Given the description of an element on the screen output the (x, y) to click on. 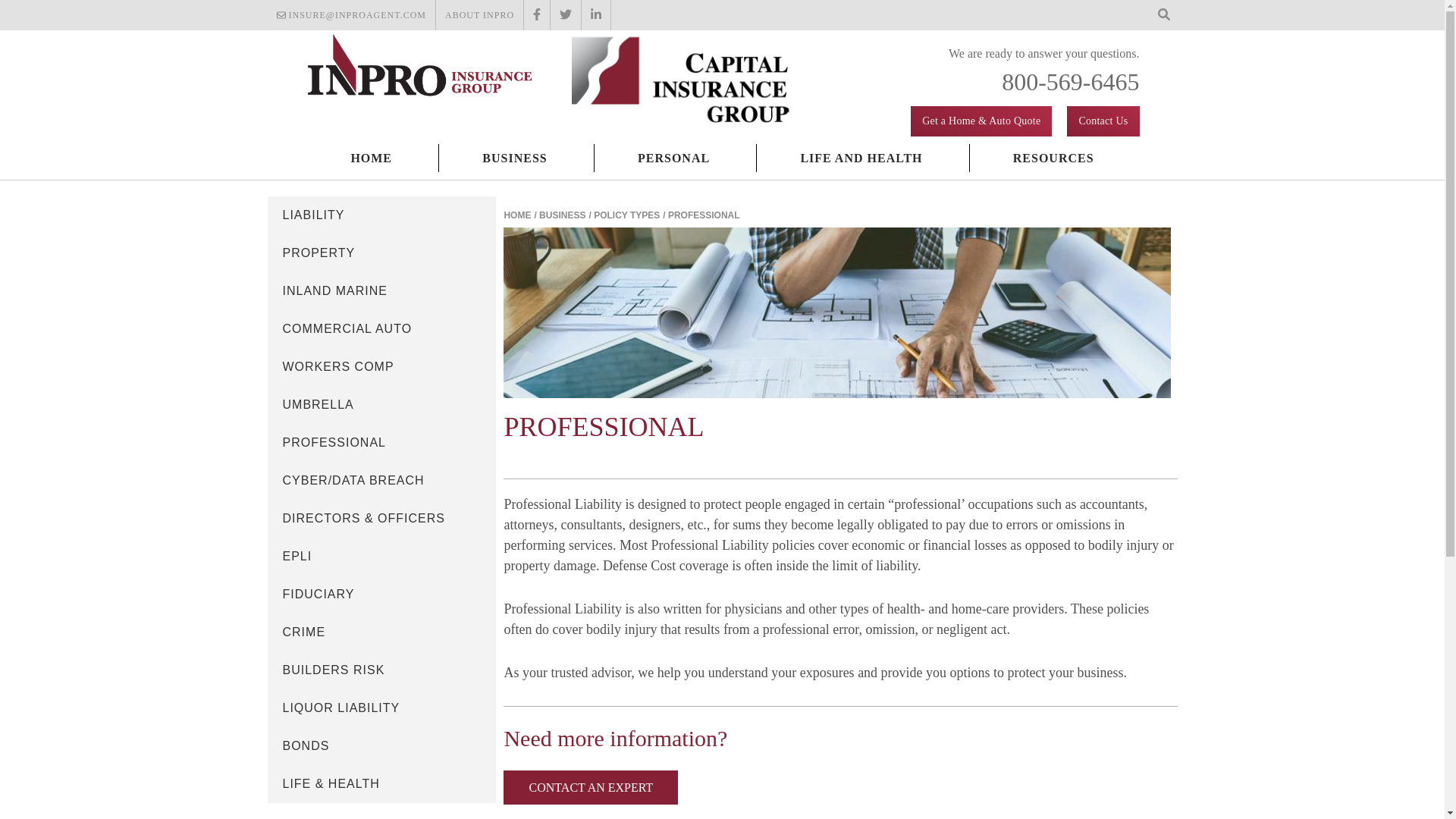
Contact Us (1102, 121)
HOME (370, 157)
800-569-6465 (1069, 81)
ABOUT INPRO (479, 15)
